Given the description of an element on the screen output the (x, y) to click on. 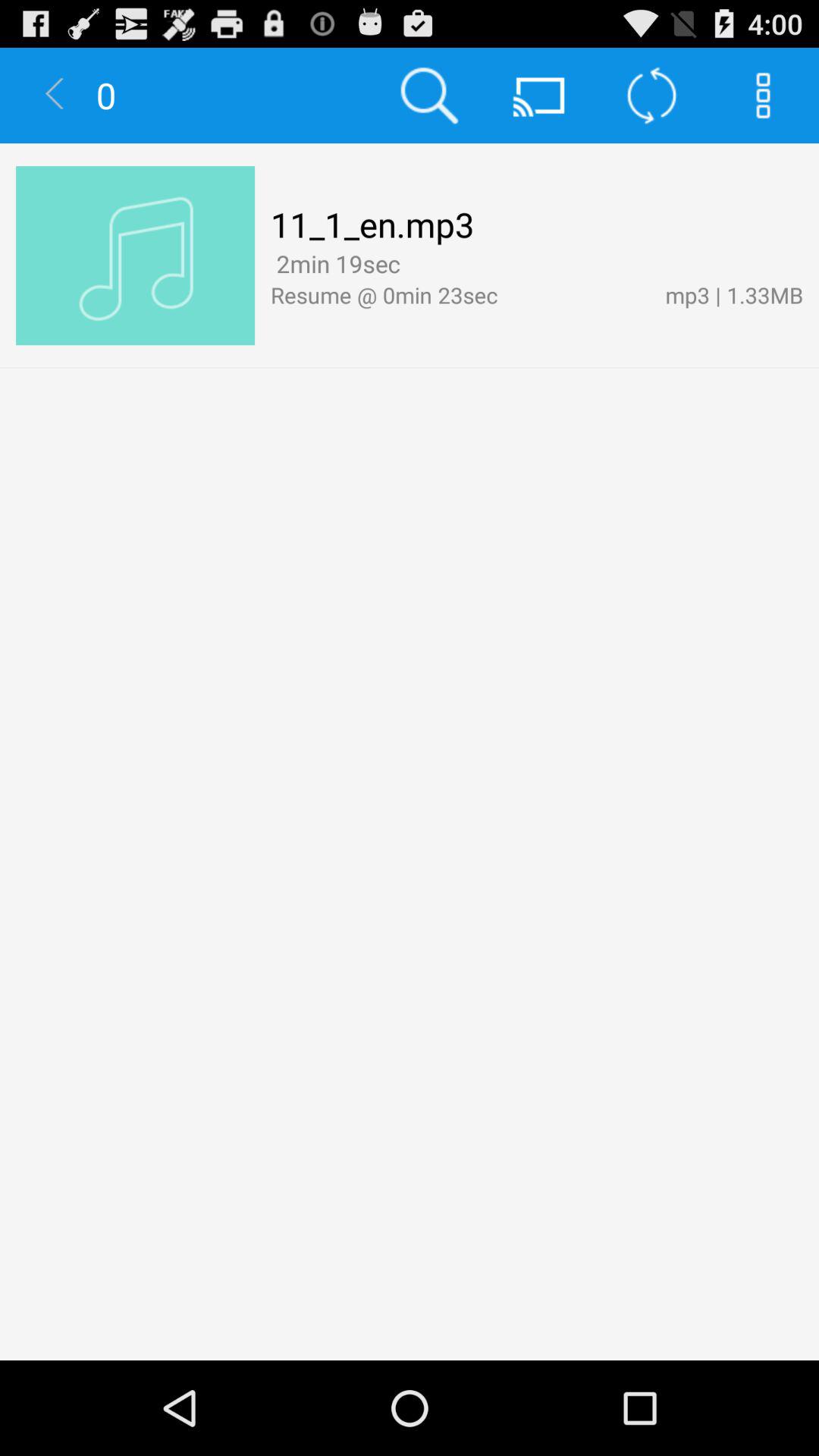
swipe to 11_1_en.mp3 item (372, 224)
